Given the description of an element on the screen output the (x, y) to click on. 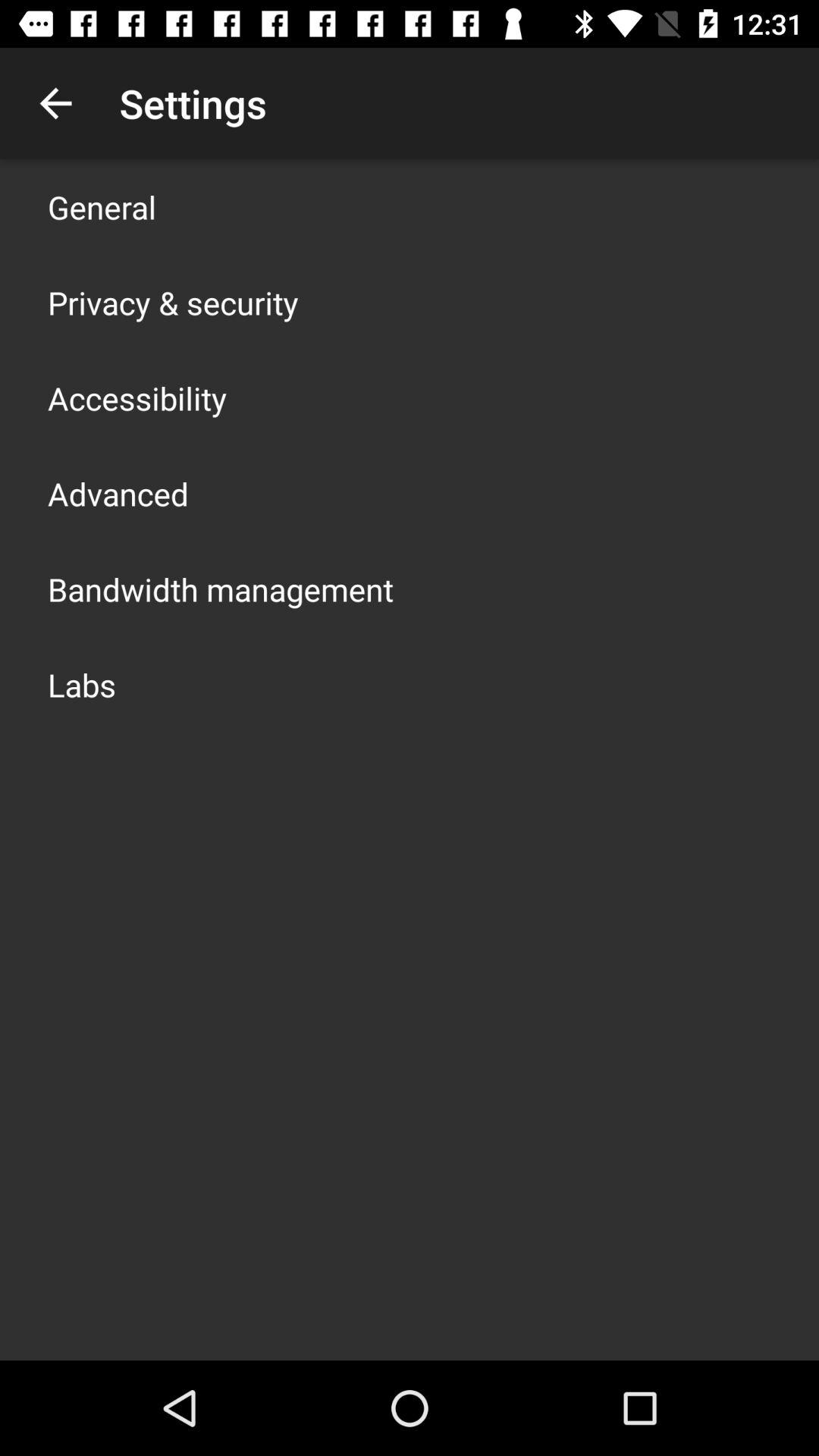
swipe until the advanced app (117, 493)
